Given the description of an element on the screen output the (x, y) to click on. 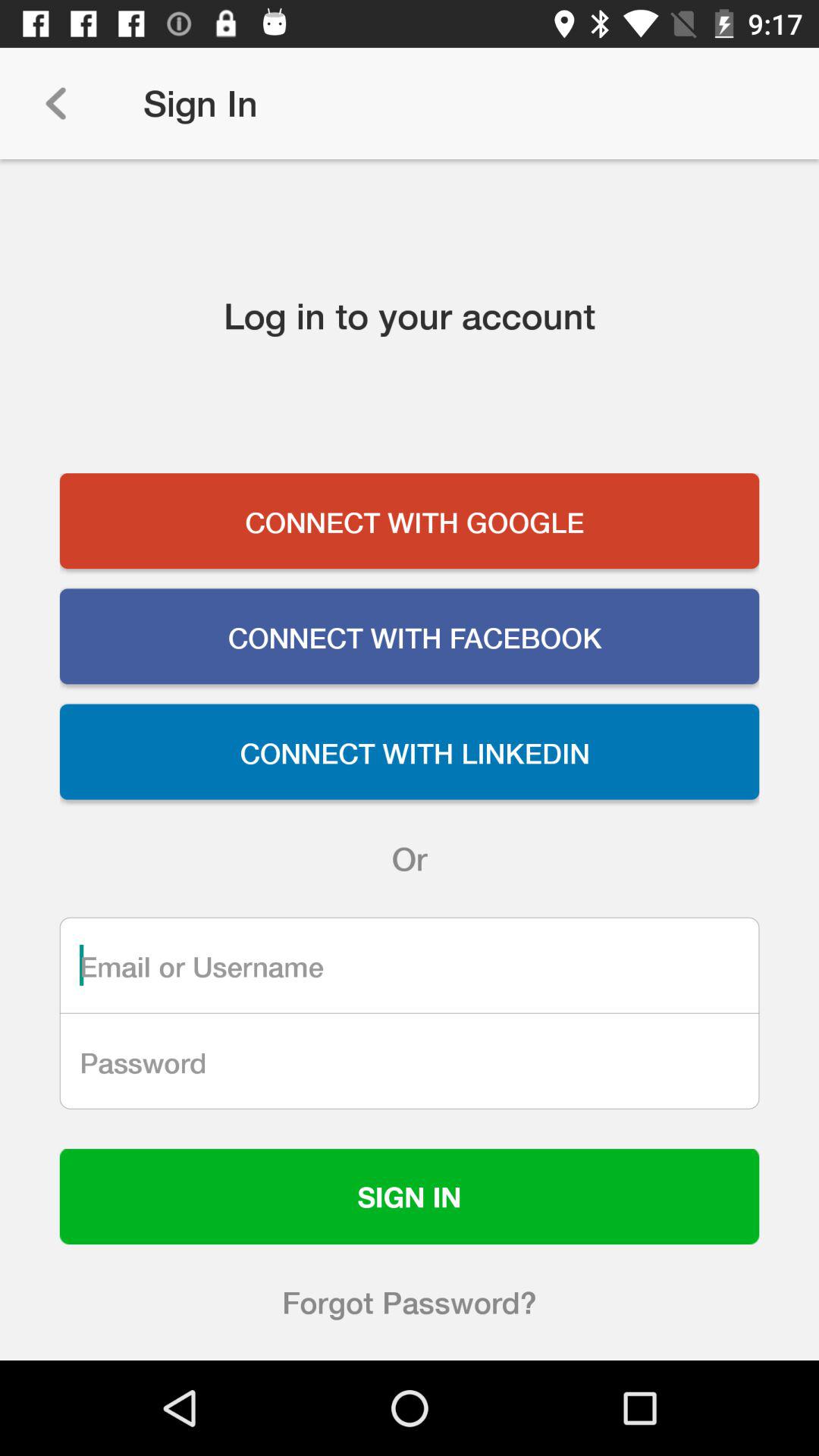
open icon next to the sign in item (55, 103)
